Given the description of an element on the screen output the (x, y) to click on. 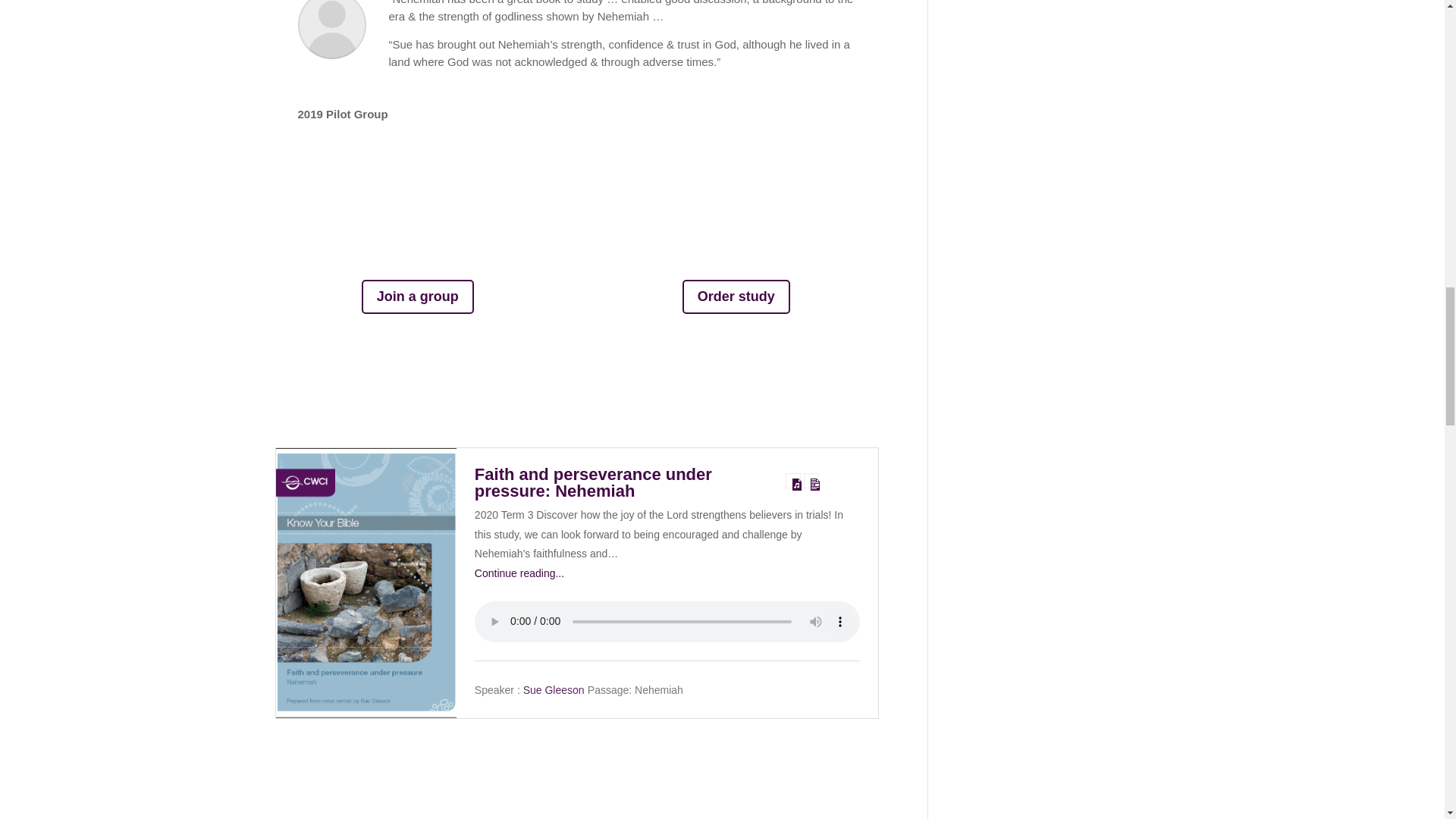
Order study (736, 296)
Join a group (417, 296)
Notes (810, 480)
Audio (793, 480)
